Given the description of an element on the screen output the (x, y) to click on. 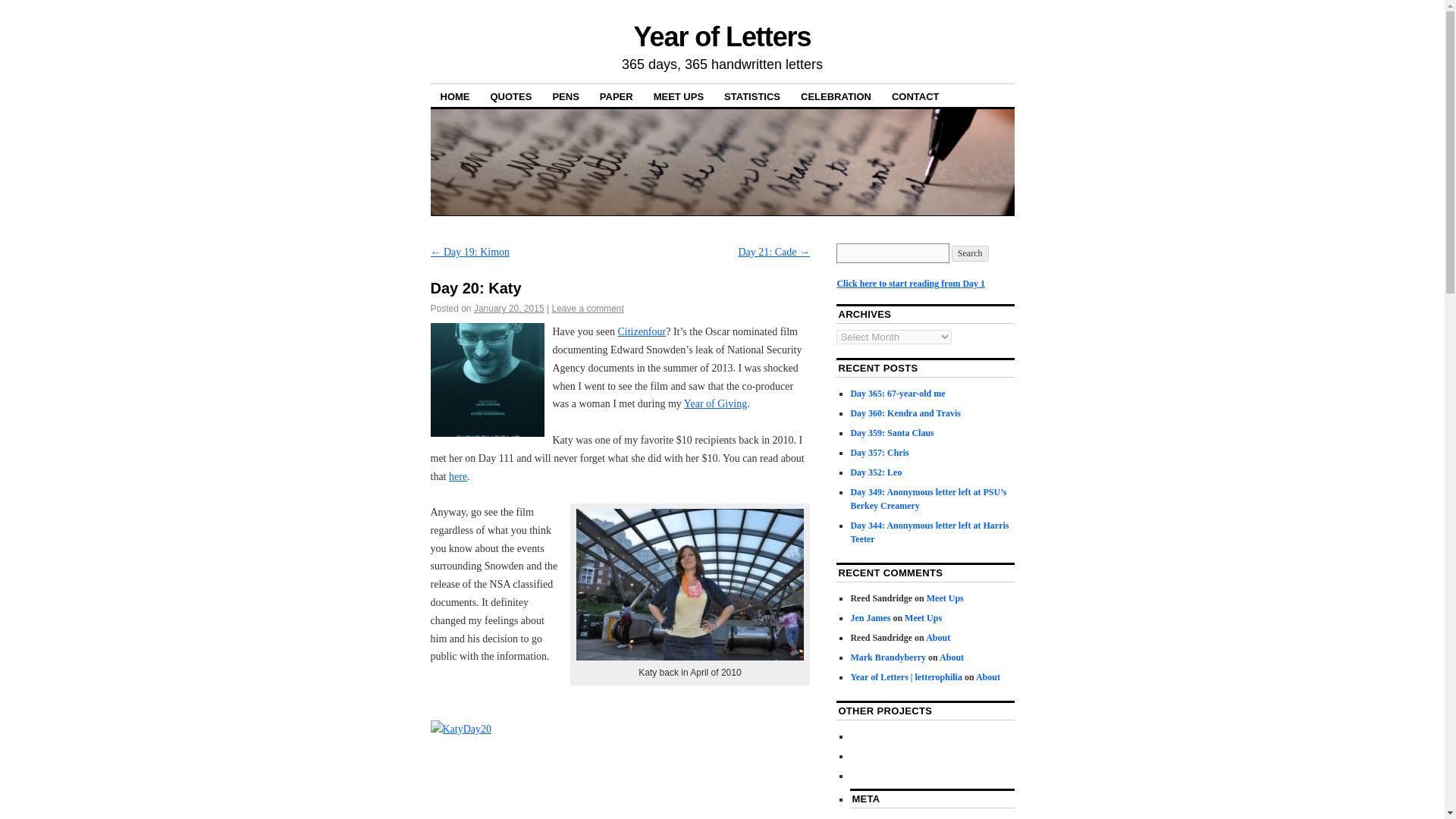
CELEBRATION (835, 96)
HOME (455, 96)
Year of Letters (721, 36)
PENS (564, 96)
here (457, 475)
8:02 am (509, 308)
January 20, 2015 (509, 308)
Search (970, 253)
MEET UPS (678, 96)
Year of Letters (721, 36)
STATISTICS (752, 96)
CONTACT (915, 96)
Citizenfour (641, 331)
Year of Giving (715, 403)
QUOTES (510, 96)
